Given the description of an element on the screen output the (x, y) to click on. 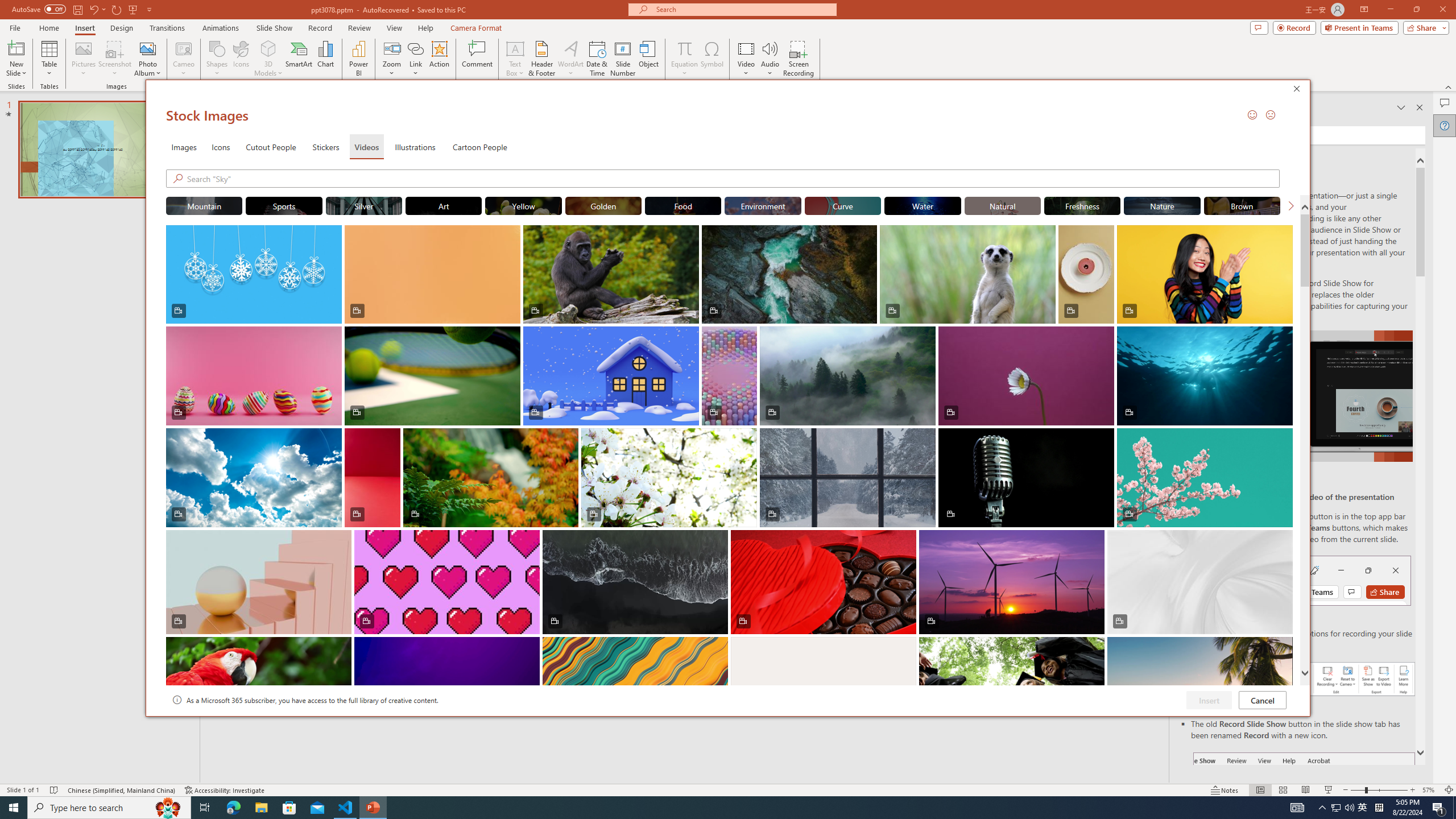
Draw Horizontal Text Box (515, 48)
"Brown" Stock Videos. (1241, 205)
Table (49, 58)
Icons (220, 146)
Thumbnail (1283, 645)
Videos (366, 146)
